Given the description of an element on the screen output the (x, y) to click on. 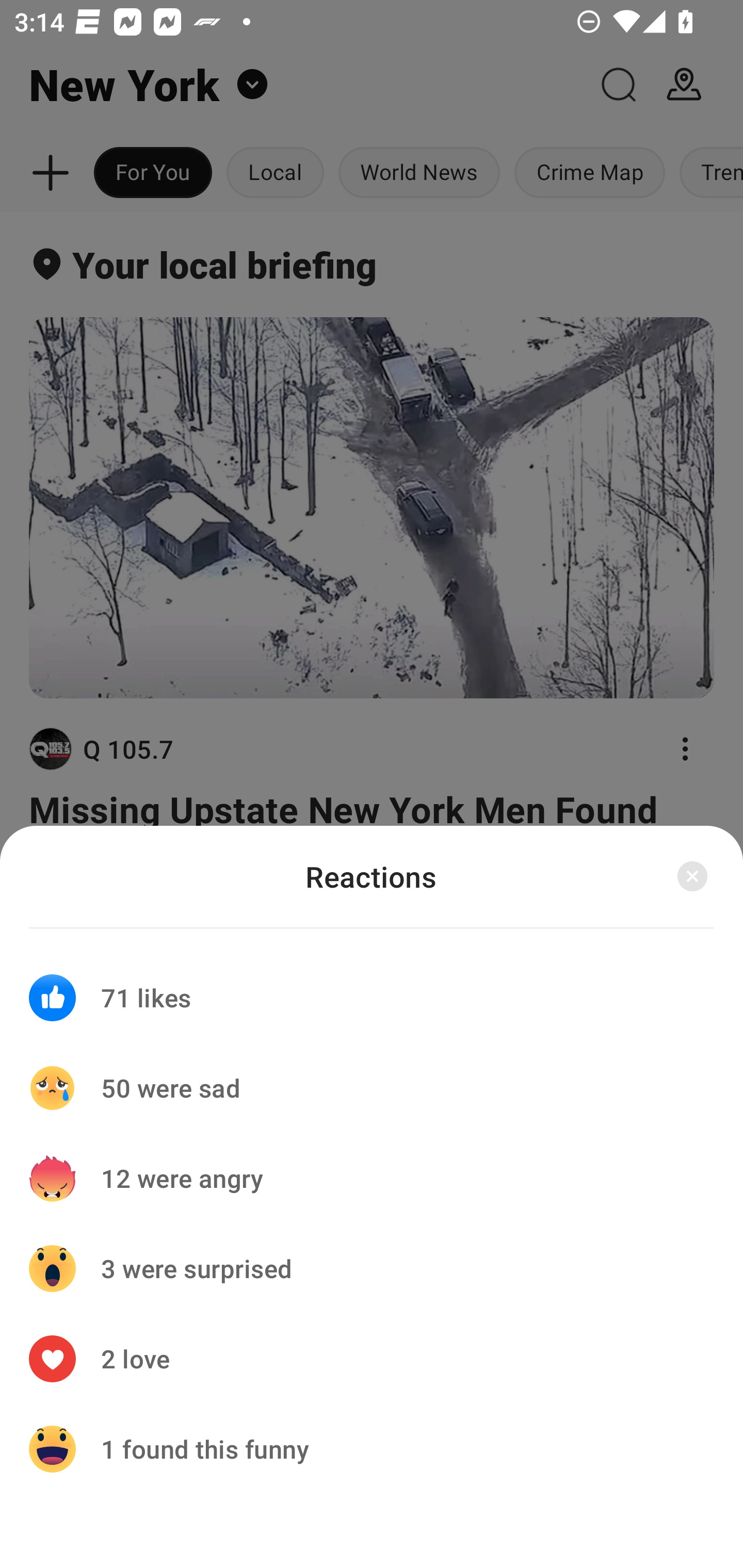
71 likes (371, 985)
50 were sad (371, 1087)
12 were angry (371, 1178)
3 were surprised (371, 1268)
2 love (371, 1358)
1 found this funny (371, 1448)
